Given the description of an element on the screen output the (x, y) to click on. 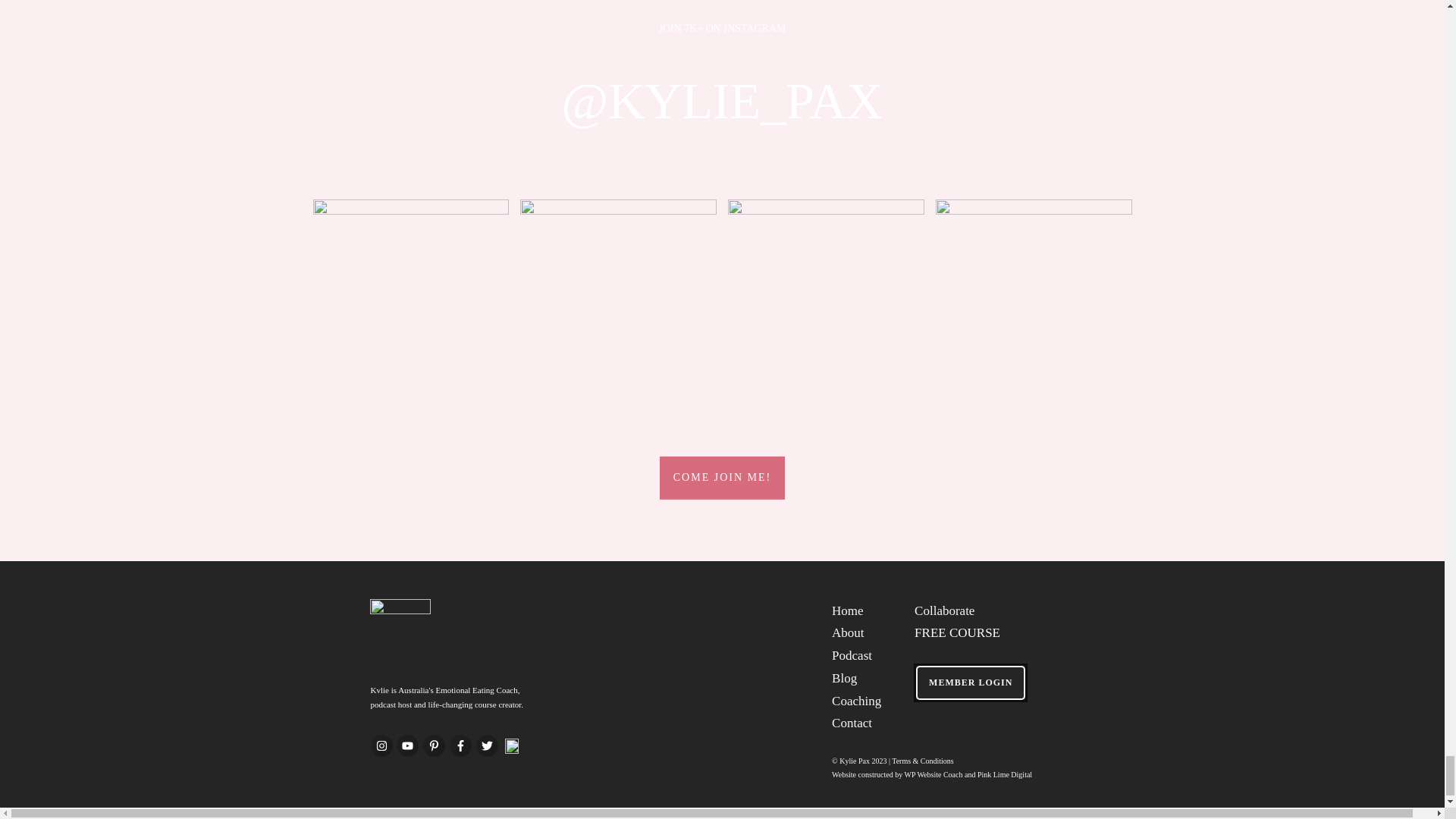
itunes-podcast-logo-white-circle-1273017 (511, 745)
Screenshot 2023-07-17 at 4.55.49 pm copy 4 (410, 297)
1.. (1034, 297)
2... (617, 297)
Screenshot 2023-07-17 at 4.55.49 pm copy 3 (826, 297)
